Given the description of an element on the screen output the (x, y) to click on. 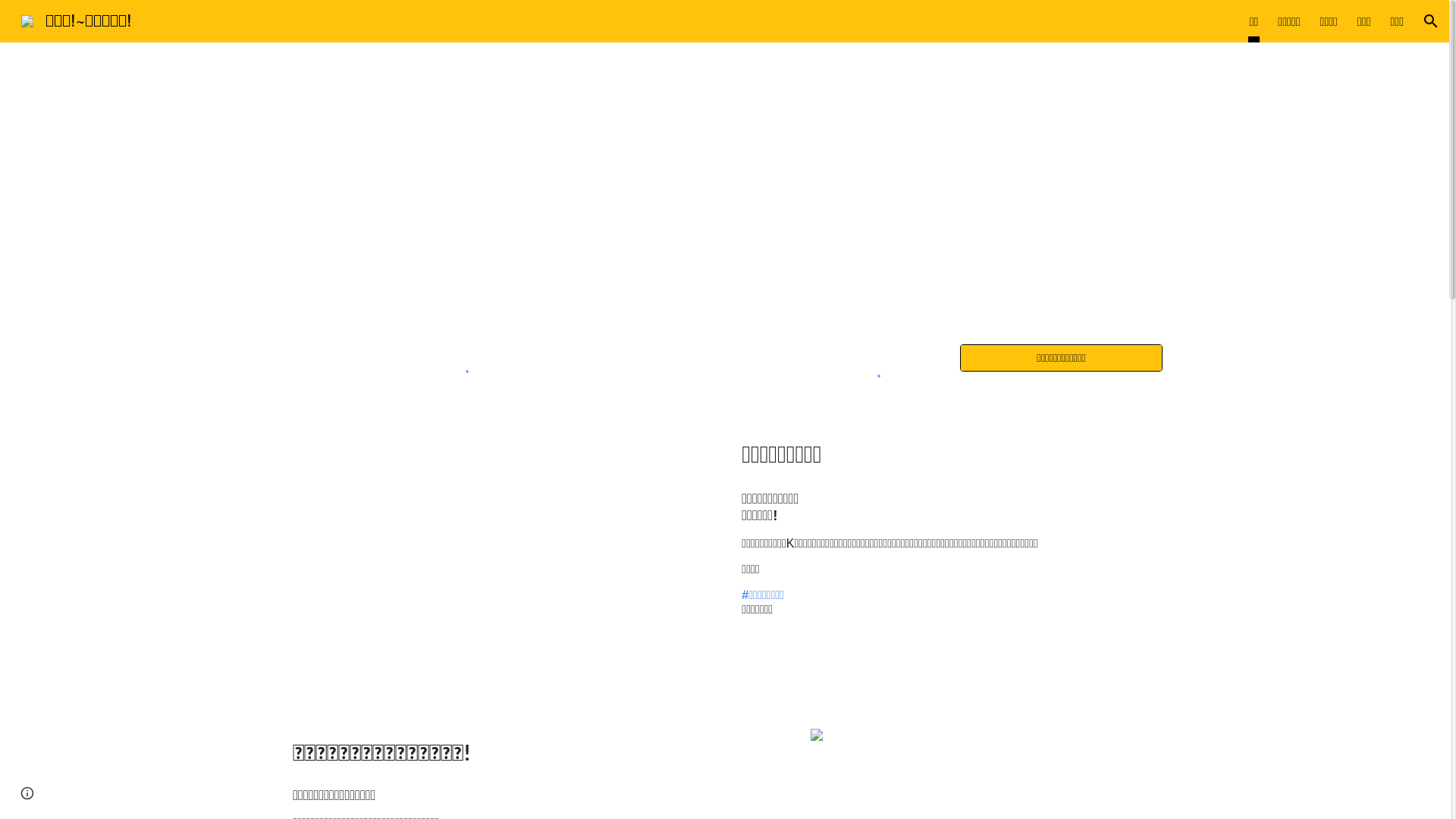
Custom embed Element type: hover (462, 362)
Custom embed Element type: hover (874, 368)
